Given the description of an element on the screen output the (x, y) to click on. 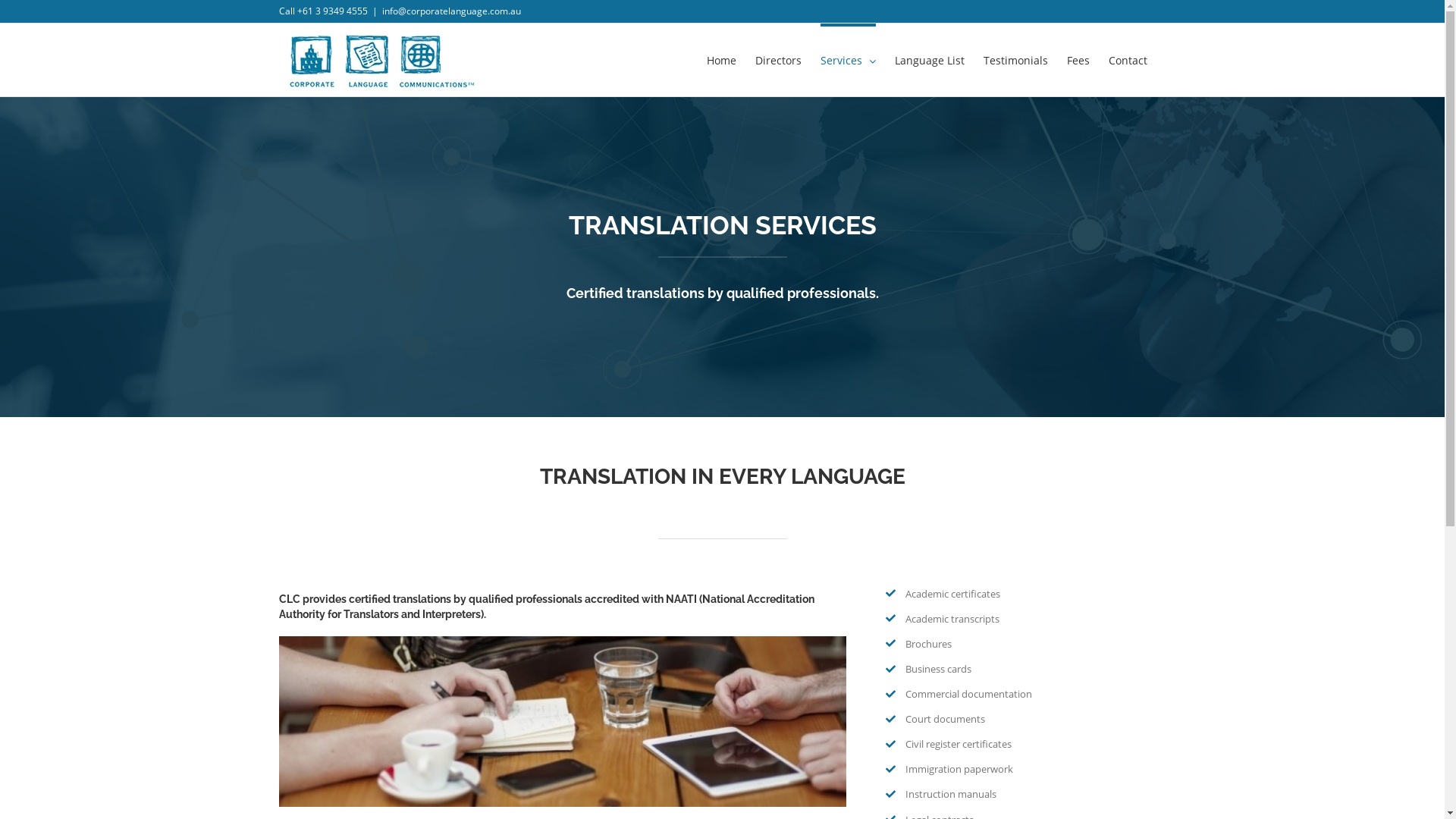
Testimonials Element type: text (1014, 58)
stock-coffee-cafe-couple2 Element type: hover (563, 721)
Contact Element type: text (1127, 58)
Fees Element type: text (1077, 58)
Home Element type: text (721, 58)
Directors Element type: text (778, 58)
info@corporatelanguage.com.au Element type: text (451, 10)
Language List Element type: text (929, 58)
Services Element type: text (847, 58)
